Given the description of an element on the screen output the (x, y) to click on. 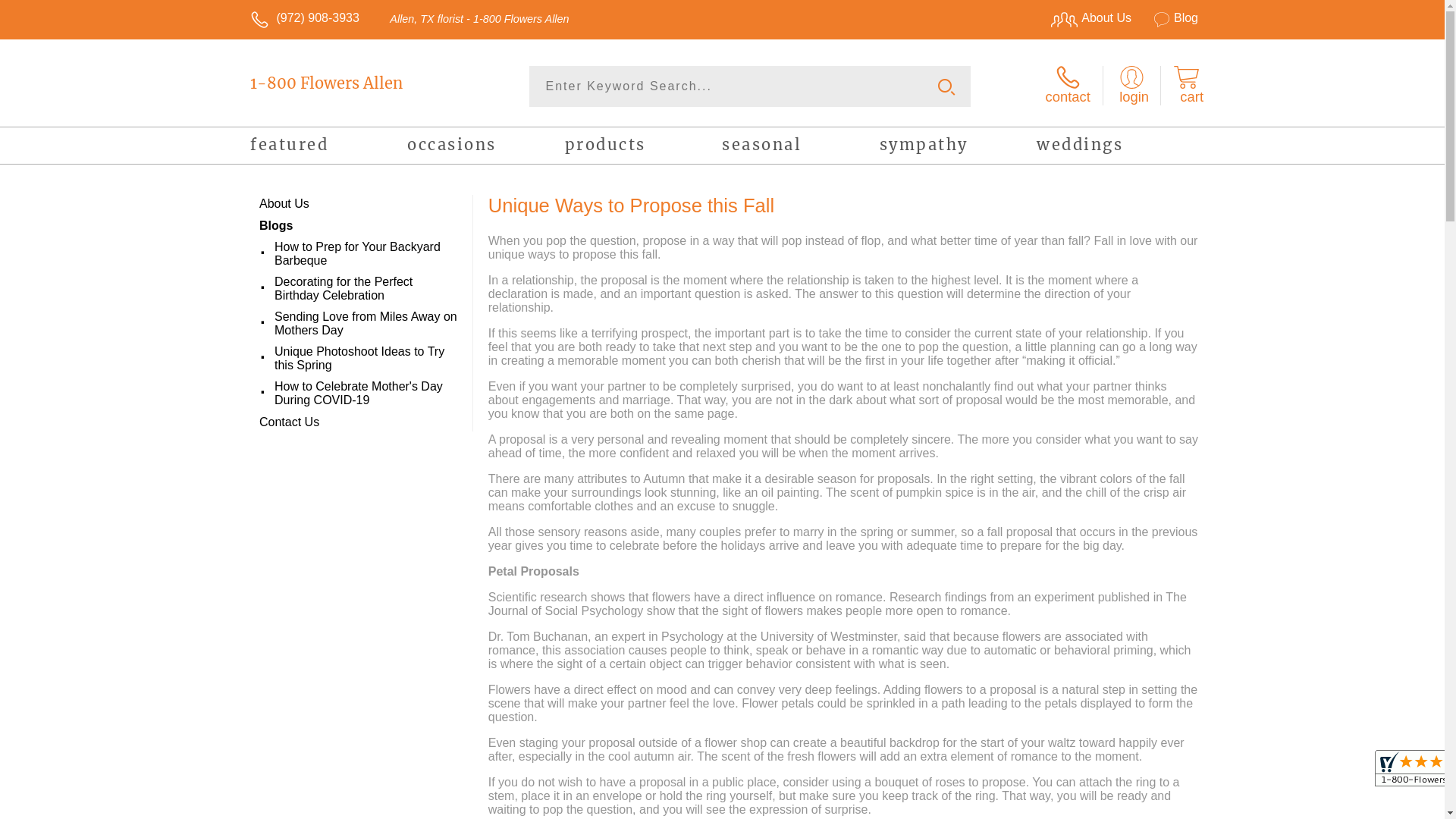
featured Element type: text (328, 147)
weddings Element type: text (1114, 147)
products Element type: text (642, 147)
How to Celebrate Mother's Day During COVID-19 Element type: text (366, 393)
(972) 908-3933 Element type: text (317, 17)
Blogs Element type: text (359, 225)
About Us Element type: text (359, 203)
contact Element type: text (1067, 85)
sympathy Element type: text (957, 147)
cart Element type: text (1186, 85)
login or register
login Element type: text (1131, 85)
1-800 Flowers Allen Element type: text (359, 82)
Sending Love from Miles Away on Mothers Day Element type: text (366, 323)
Blog Element type: text (1166, 17)
About Us Element type: text (1083, 17)
Decorating for the Perfect Birthday Celebration Element type: text (366, 288)
Contact Us Element type: text (359, 422)
Enter Keyword Search... Element type: hover (750, 85)
How to Prep for Your Backyard Barbeque Element type: text (366, 253)
occasions Element type: text (485, 147)
seasonal Element type: text (799, 147)
Unique Photoshoot Ideas to Try this Spring Element type: text (366, 358)
